Given the description of an element on the screen output the (x, y) to click on. 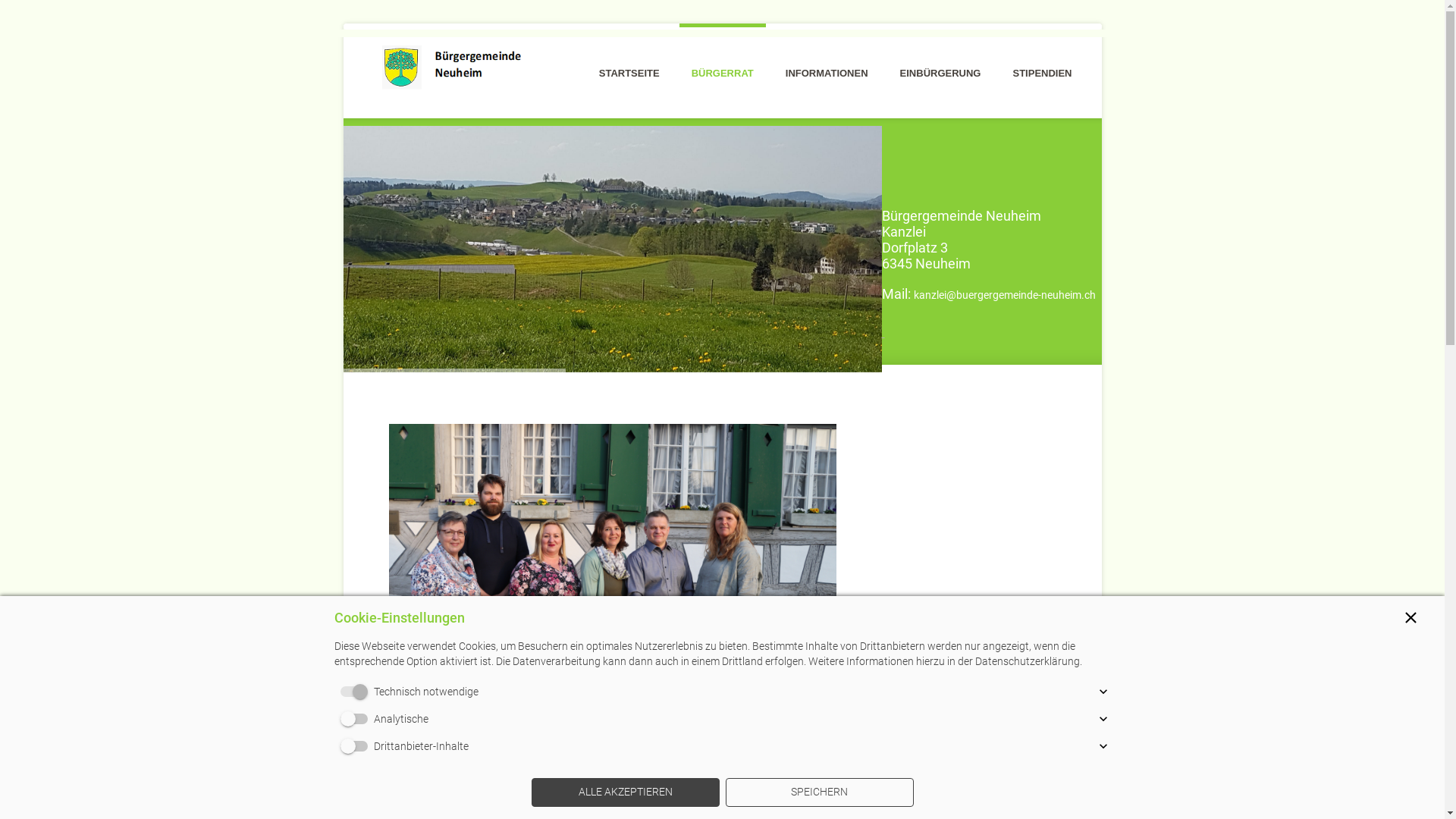
STIPENDIEN Element type: text (1041, 50)
INFORMATIONEN Element type: text (826, 50)
ALLE AKZEPTIEREN Element type: text (624, 792)
STARTSEITE Element type: text (628, 50)
SPEICHERN Element type: text (818, 792)
